Given the description of an element on the screen output the (x, y) to click on. 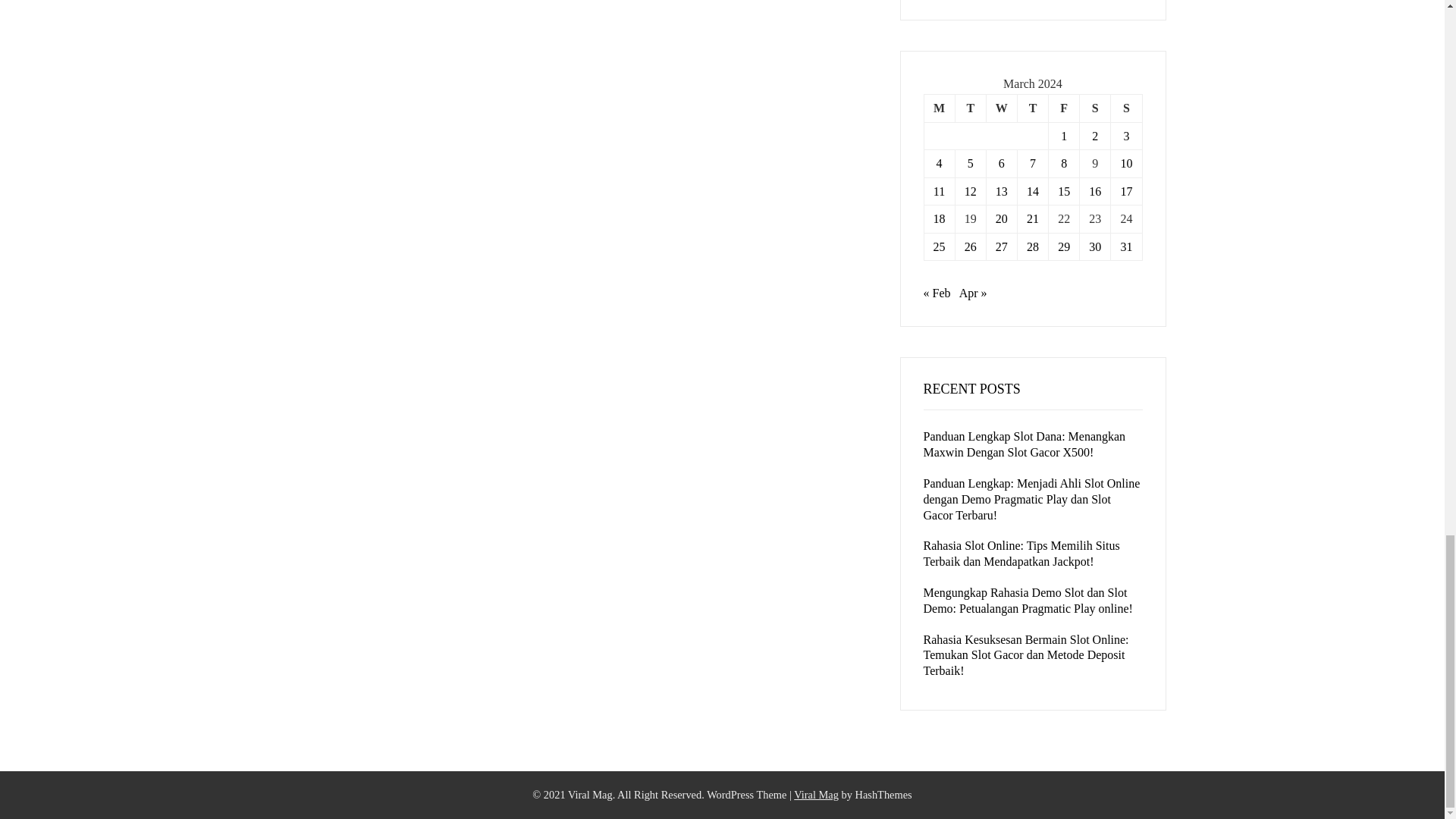
Thursday (1032, 108)
Sunday (1125, 108)
Monday (939, 108)
Friday (1064, 108)
Download Viral News (815, 794)
Saturday (1095, 108)
Wednesday (1000, 108)
Tuesday (970, 108)
